Given the description of an element on the screen output the (x, y) to click on. 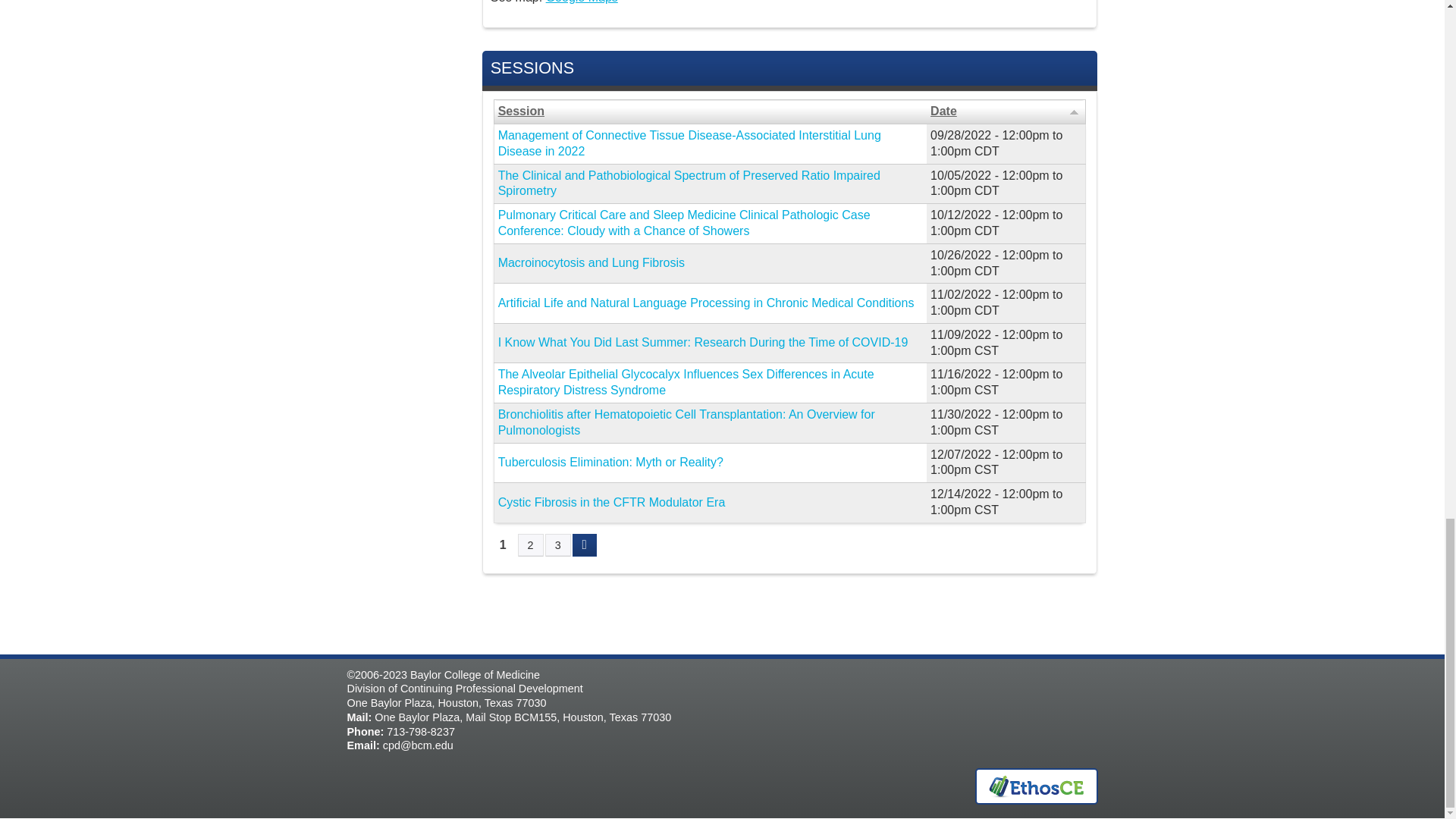
Date (1005, 111)
Go to next page (584, 544)
Go to page 2 (530, 544)
Session (710, 111)
sort by Session (710, 111)
Macroinocytosis and Lung Fibrosis (590, 262)
sort by Date (1005, 111)
Google Maps (581, 2)
Go to page 3 (557, 544)
sort descending (1073, 111)
